Given the description of an element on the screen output the (x, y) to click on. 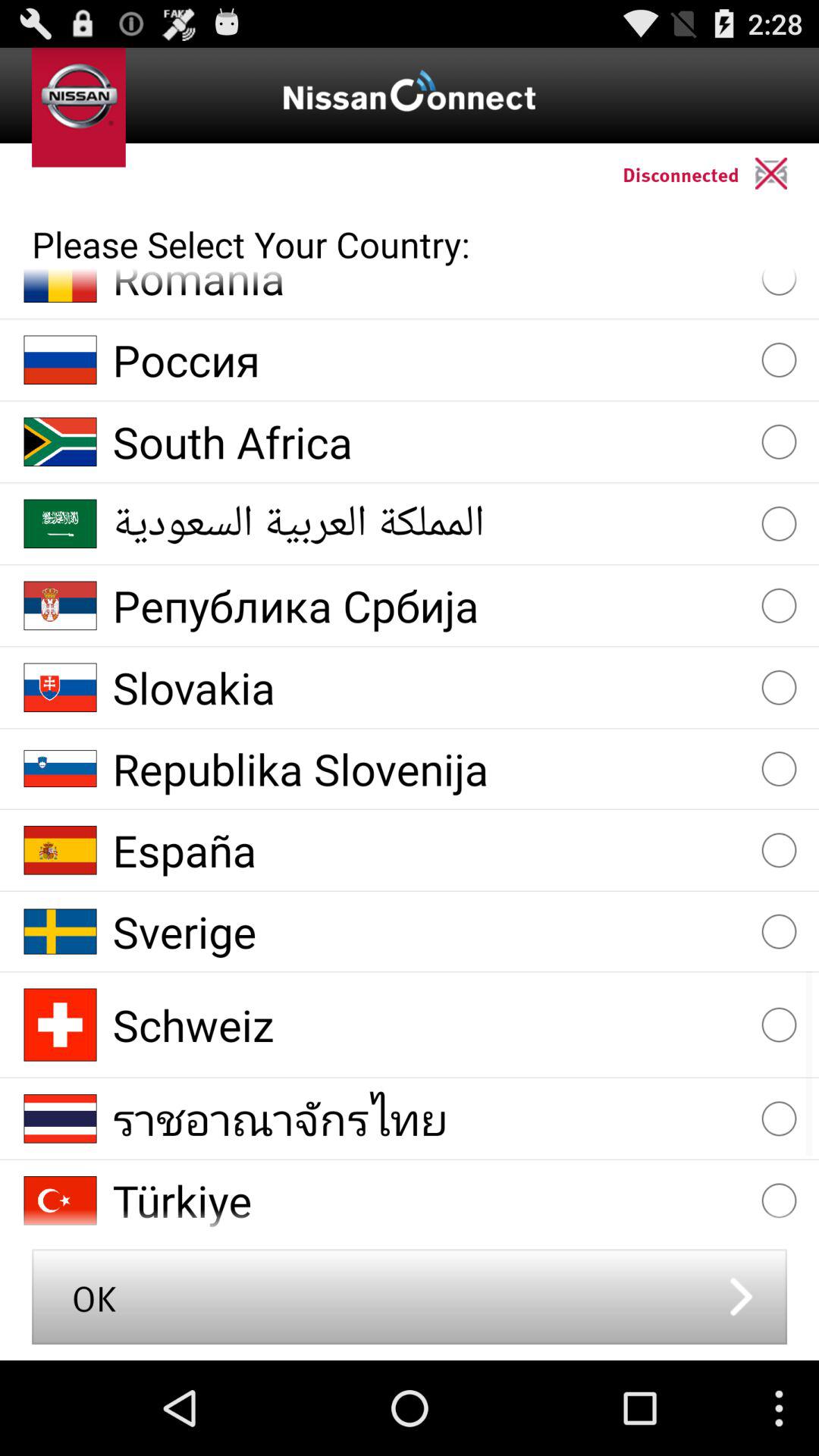
turn on south africa item (429, 441)
